Given the description of an element on the screen output the (x, y) to click on. 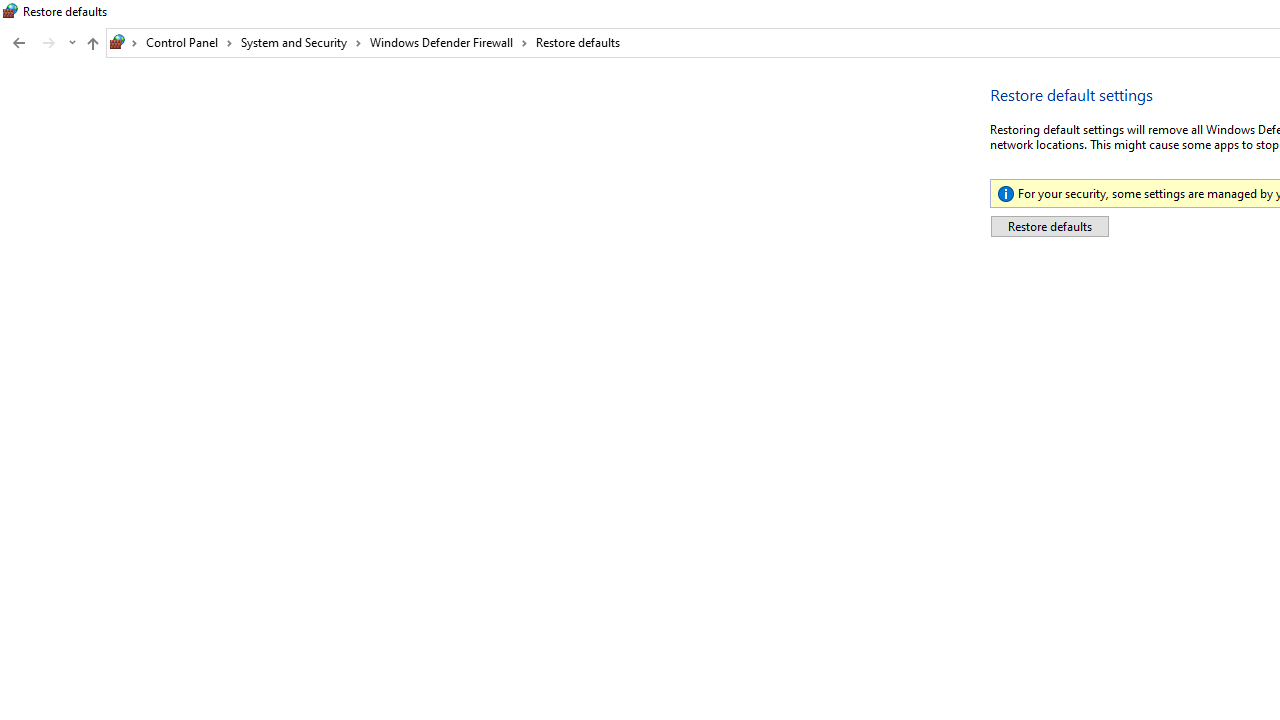
Restore defaults (1049, 226)
Back to Windows Defender Firewall (Alt + Left Arrow) (18, 43)
All locations (124, 42)
Up to "Windows Defender Firewall" (Alt + Up Arrow) (92, 43)
System and Security (301, 42)
Restore defaults (578, 42)
Forward (Alt + Right Arrow) (49, 43)
Up band toolbar (92, 46)
System (10, 11)
Control Panel (189, 42)
Navigation buttons (41, 43)
System (10, 11)
Windows Defender Firewall (449, 42)
Recent locations (71, 43)
